Given the description of an element on the screen output the (x, y) to click on. 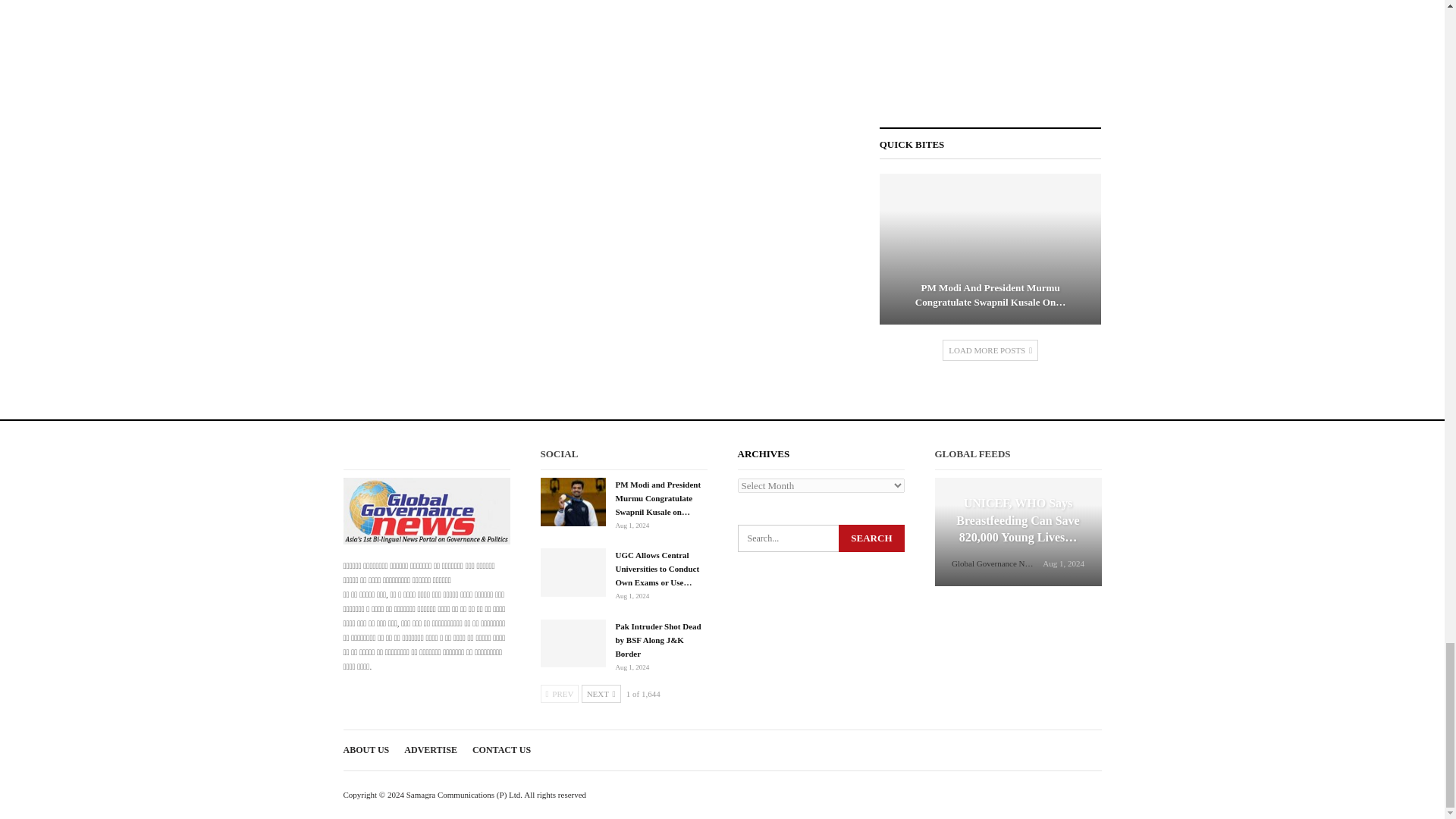
Search (871, 538)
Search (871, 538)
